Given the description of an element on the screen output the (x, y) to click on. 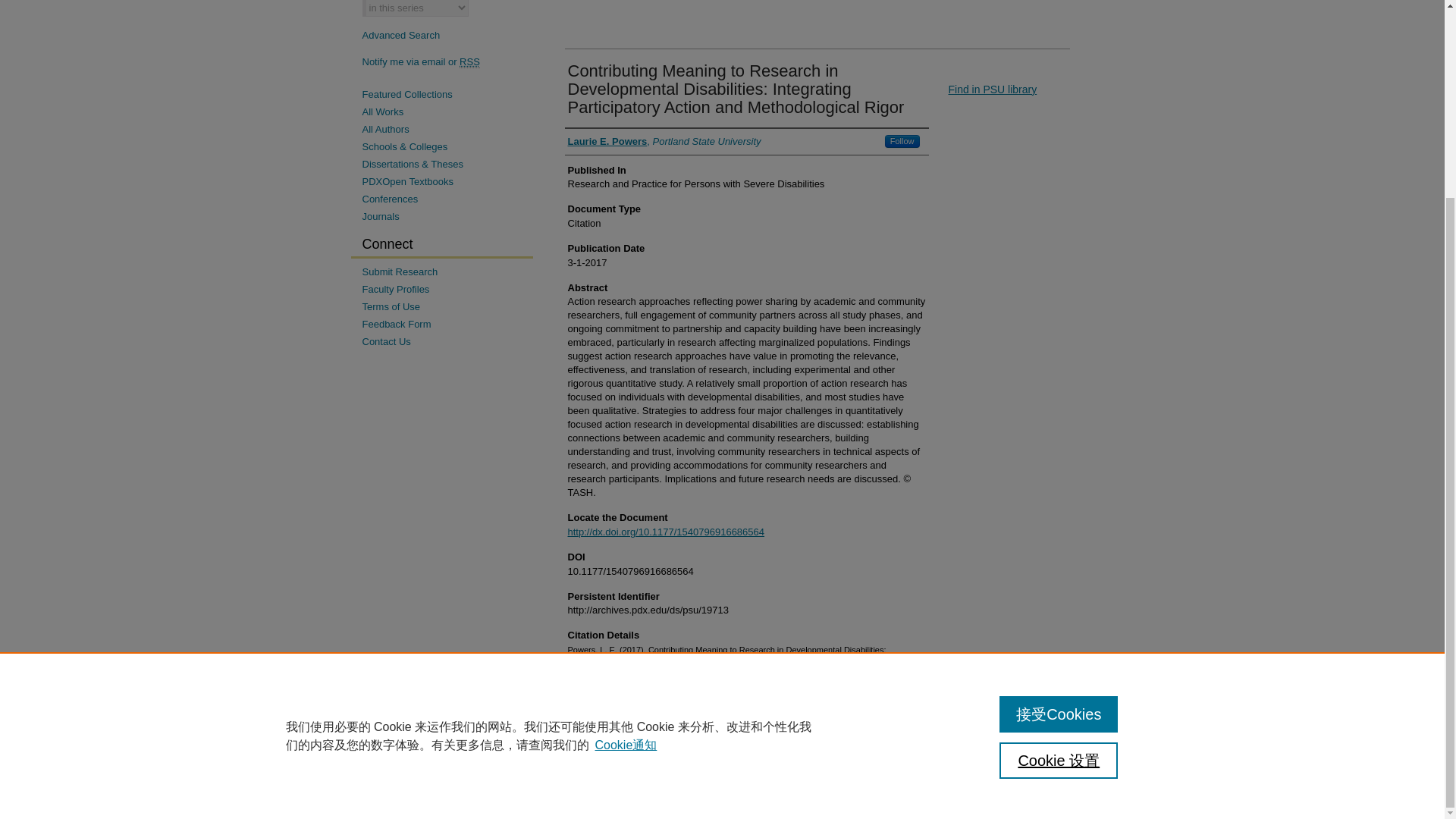
Email or RSS Notifications (447, 61)
Follow (902, 141)
Laurie E. Powers, Portland State University (663, 141)
OpenURL (991, 89)
All Works (447, 111)
Notify me via email or RSS (447, 61)
Advanced Search (401, 34)
All Authors (447, 129)
Follow Laurie E. Powers (902, 141)
Find in PSU library (991, 89)
Featured Collections (447, 93)
